Given the description of an element on the screen output the (x, y) to click on. 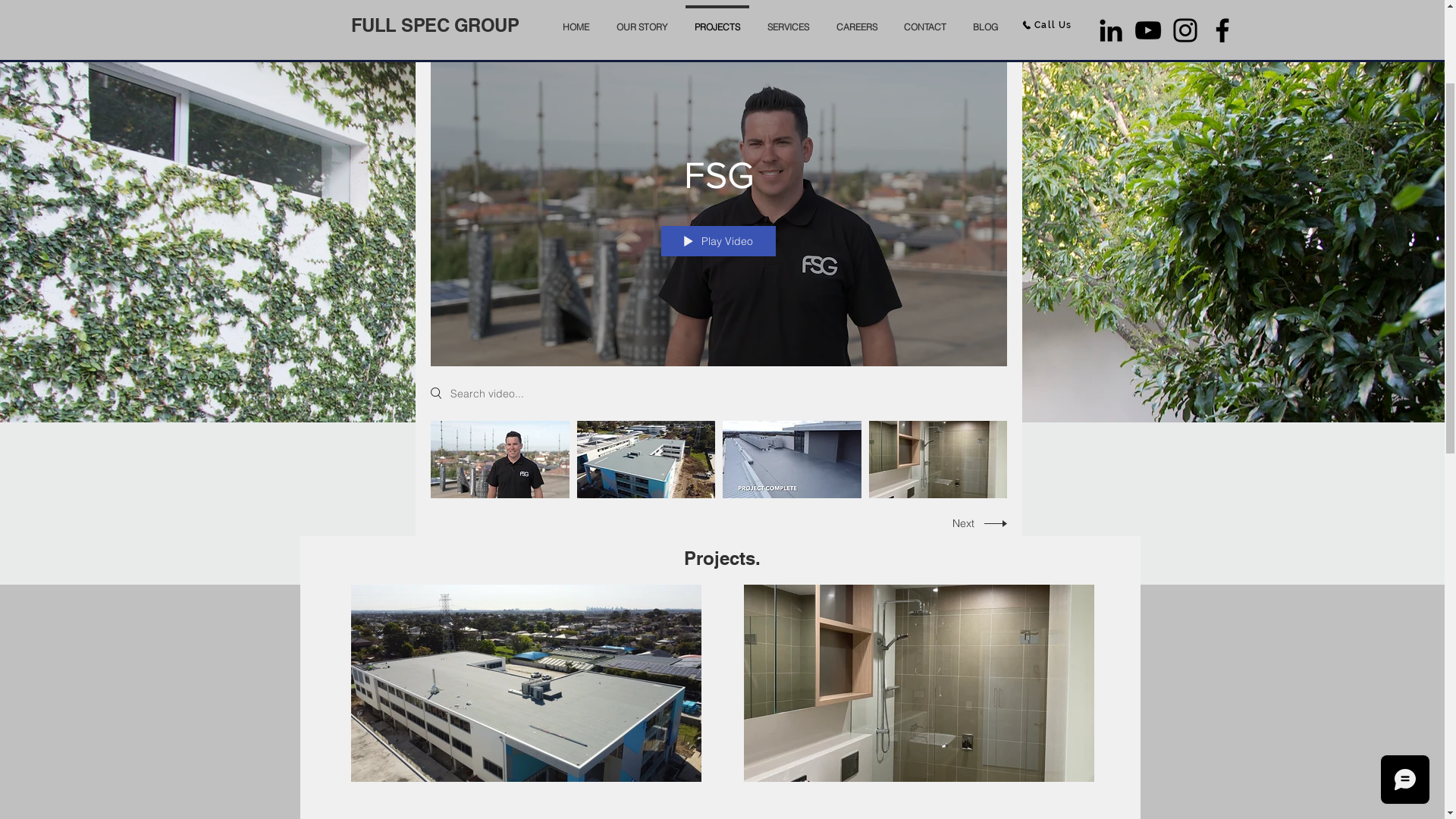
HOME Element type: text (575, 181)
Next Element type: text (973, 683)
PROJECTS Element type: text (716, 181)
BLOG Element type: text (985, 181)
SERVICES Element type: text (787, 181)
OUR STORY Element type: text (641, 181)
Call Us Element type: text (1046, 185)
FULL SPEC GROUP Element type: text (434, 185)
CONTACT Element type: text (924, 181)
CAREERS Element type: text (856, 181)
Play Video Element type: text (718, 401)
